Given the description of an element on the screen output the (x, y) to click on. 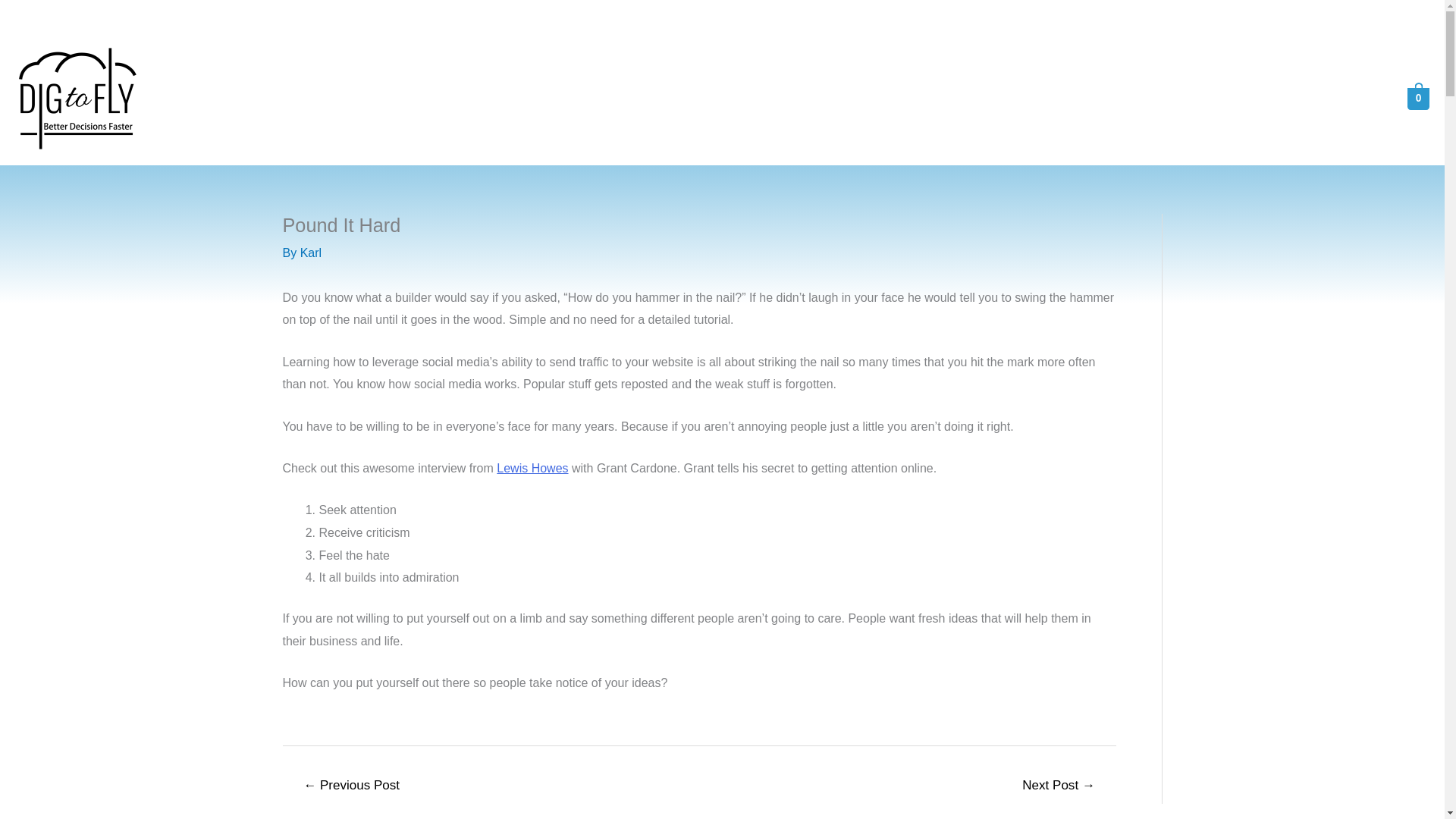
Karl (310, 252)
View all posts by Karl (310, 252)
Lewis Howes (531, 468)
About (1087, 97)
Newsletter (1337, 97)
Cart 0 (1404, 97)
Blog (1142, 97)
Shop (1196, 97)
Podcast (1258, 97)
